Given the description of an element on the screen output the (x, y) to click on. 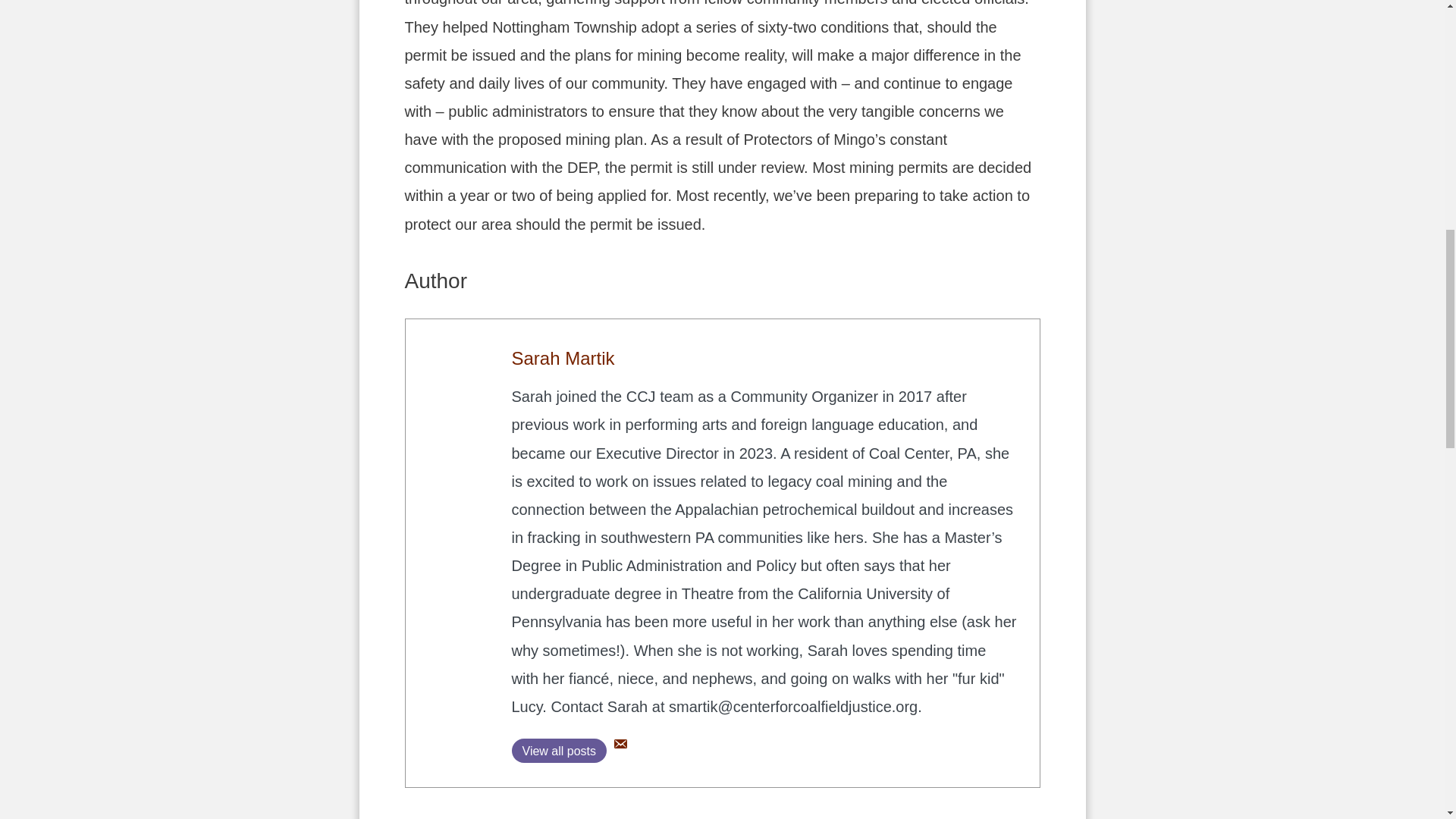
Sarah Martik (562, 358)
Sarah Martik (562, 358)
View all posts (559, 750)
View all posts (559, 750)
Protectors of Mingo stall Mine Permit for Six Years 3 (457, 372)
